Given the description of an element on the screen output the (x, y) to click on. 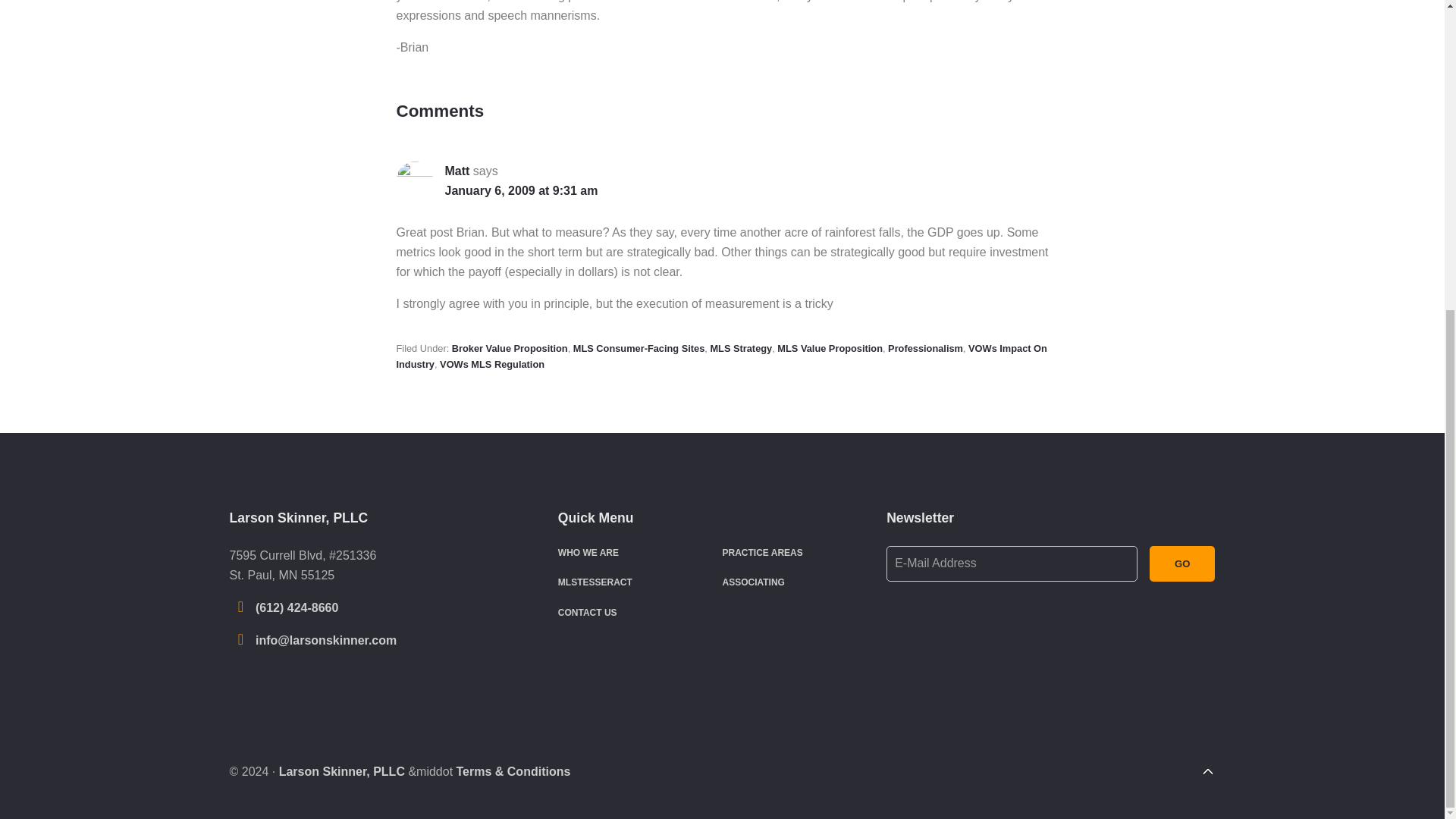
CONTACT US (587, 612)
MLS Strategy (740, 348)
Go (1182, 563)
Broker Value Proposition (509, 348)
PRACTICE AREAS (762, 552)
MLS Value Proposition (829, 348)
VOWs Impact On Industry (721, 356)
Larson Skinner, PLLC (341, 771)
Go (1182, 563)
ASSOCIATING (753, 582)
VOWs MLS Regulation (491, 364)
WHO WE ARE (587, 552)
MLSTESSERACT (594, 582)
January 6, 2009 at 9:31 am (520, 189)
Matt (456, 170)
